Given the description of an element on the screen output the (x, y) to click on. 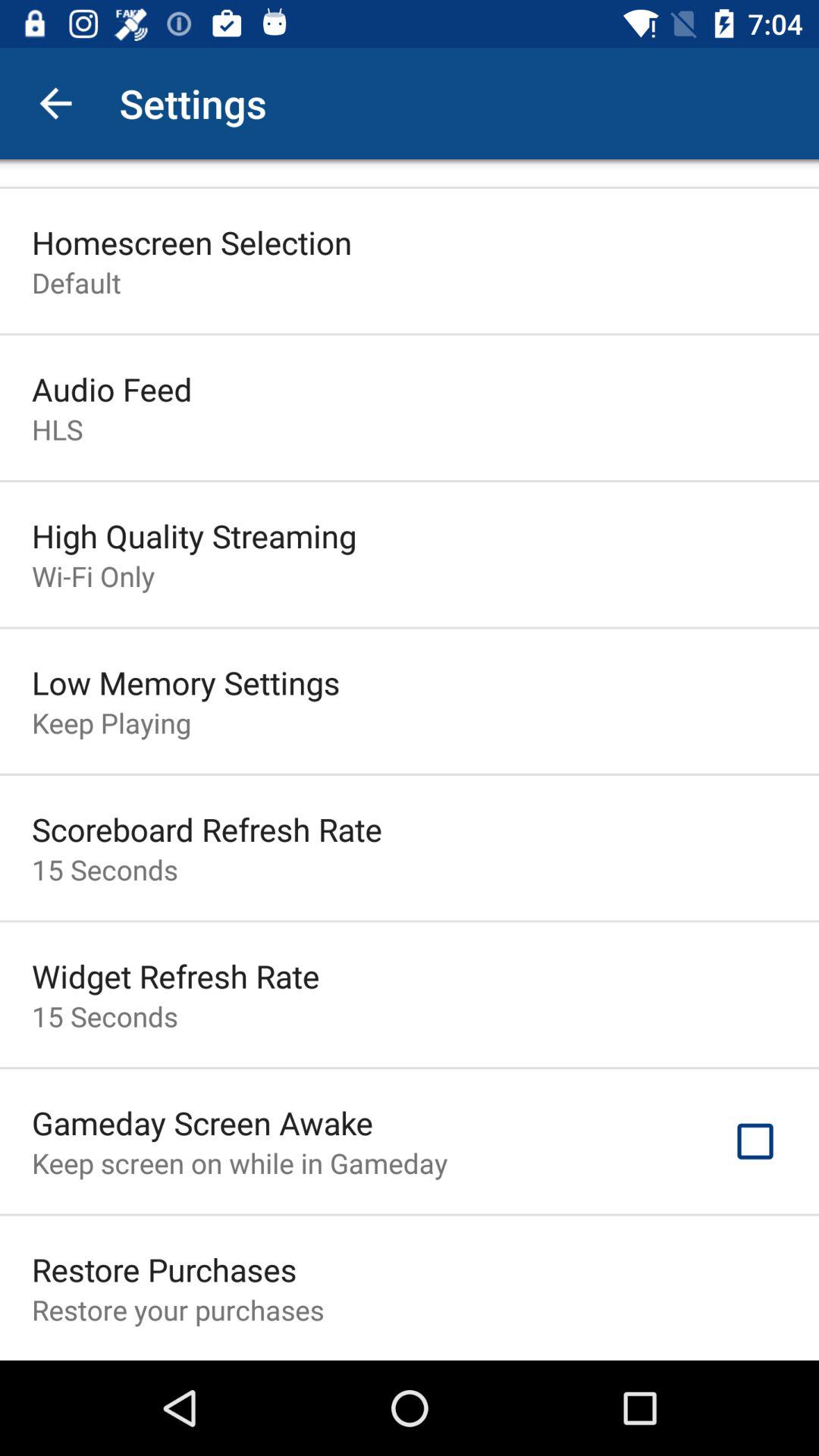
flip until the homescreen selection (191, 241)
